Given the description of an element on the screen output the (x, y) to click on. 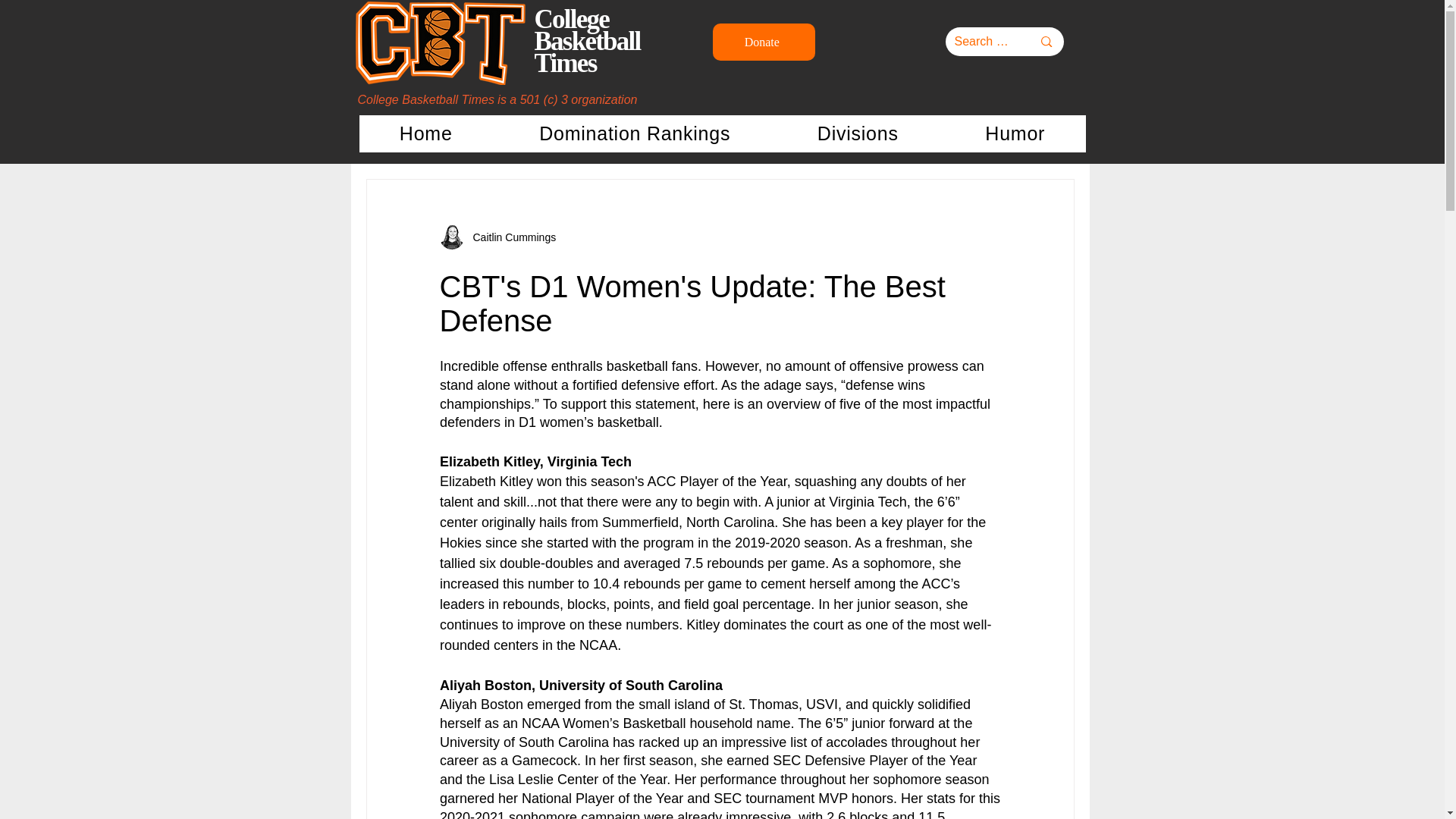
Donate (764, 41)
Caitlin Cummings (510, 237)
Humor (1014, 133)
Home (426, 133)
